Given the description of an element on the screen output the (x, y) to click on. 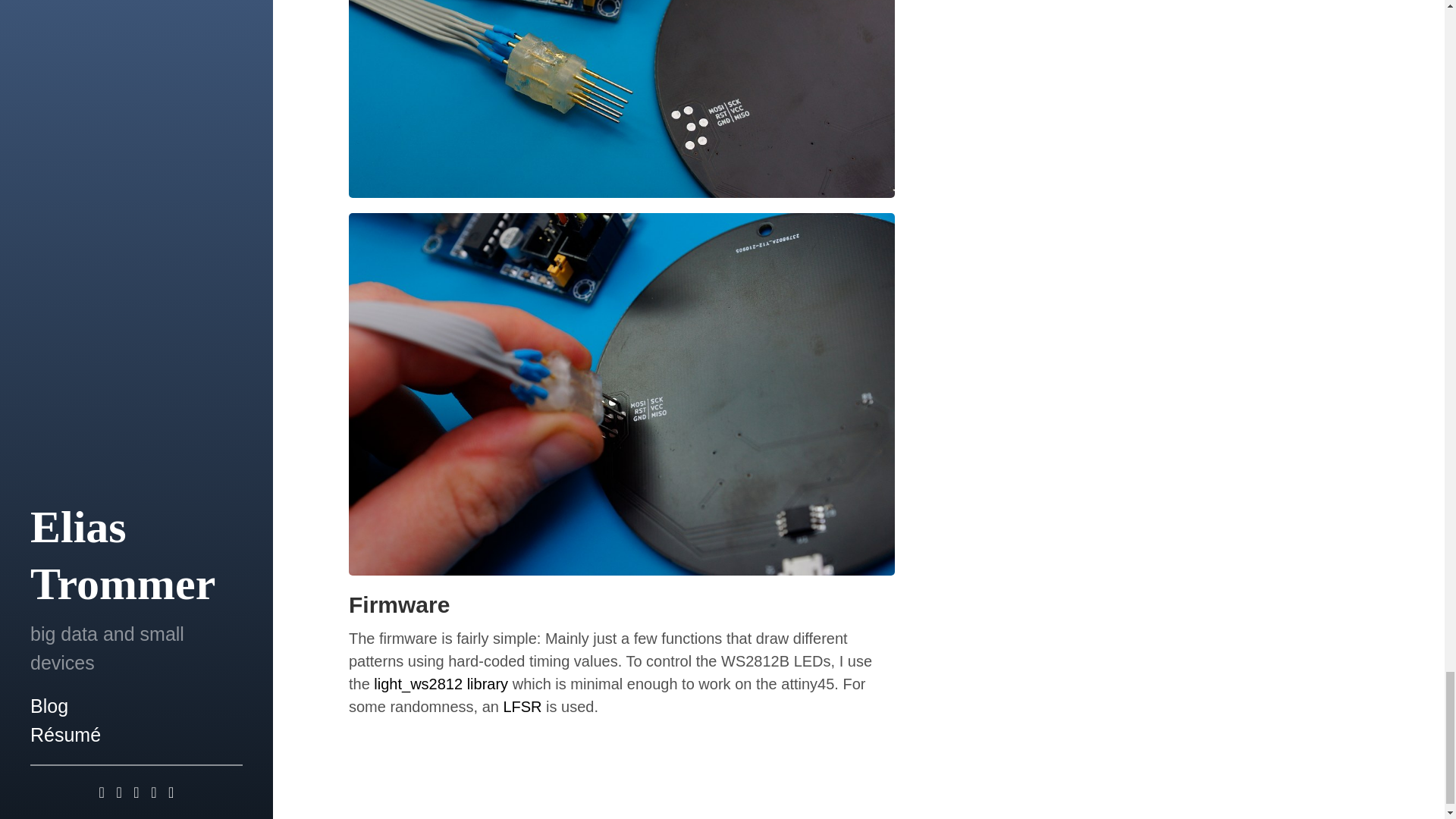
LFSR (521, 706)
